Given the description of an element on the screen output the (x, y) to click on. 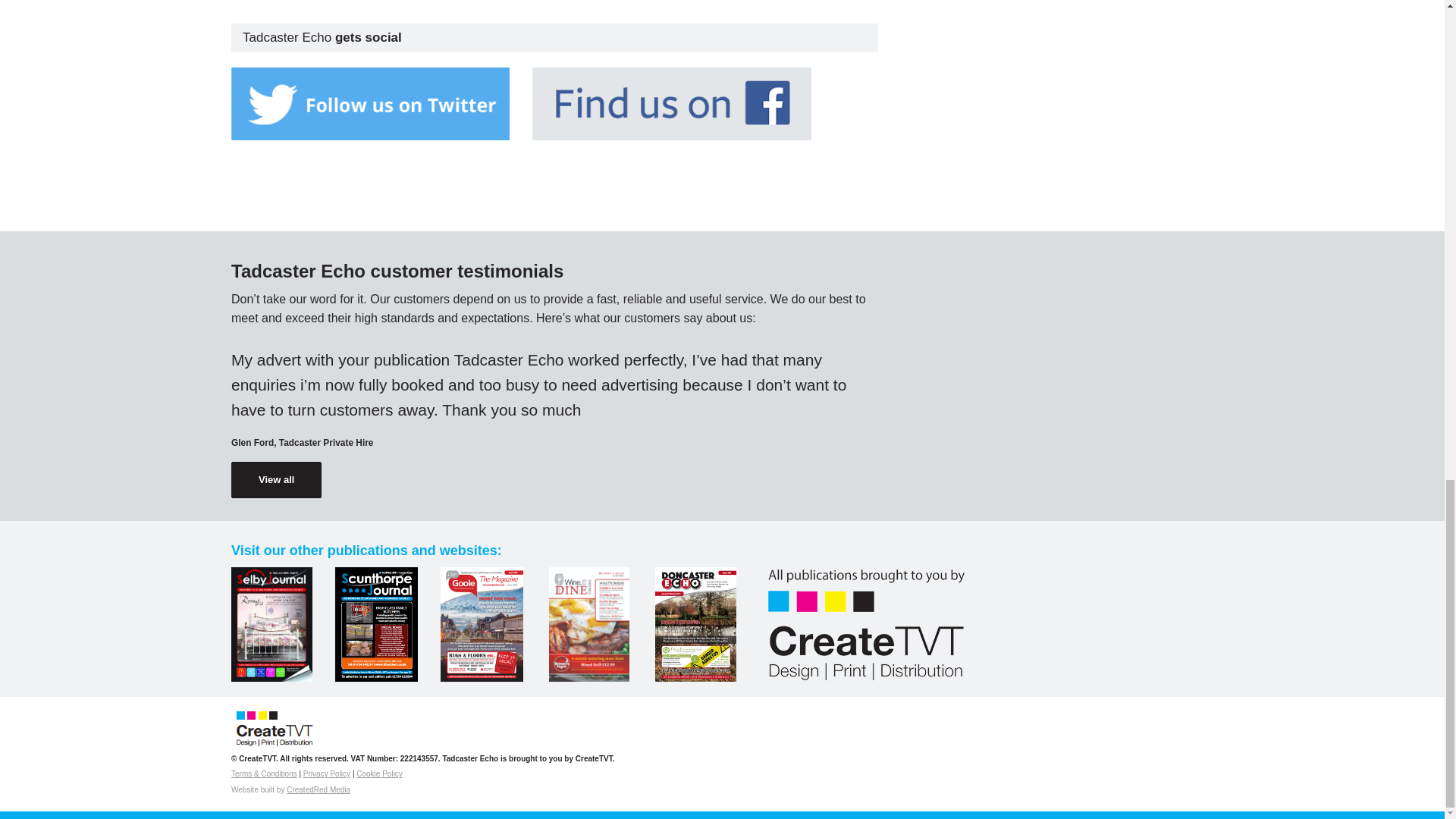
Find us and like on Facebook (671, 103)
Privacy Policy (326, 773)
Follow us on Twitter (370, 103)
View all (276, 479)
